Given the description of an element on the screen output the (x, y) to click on. 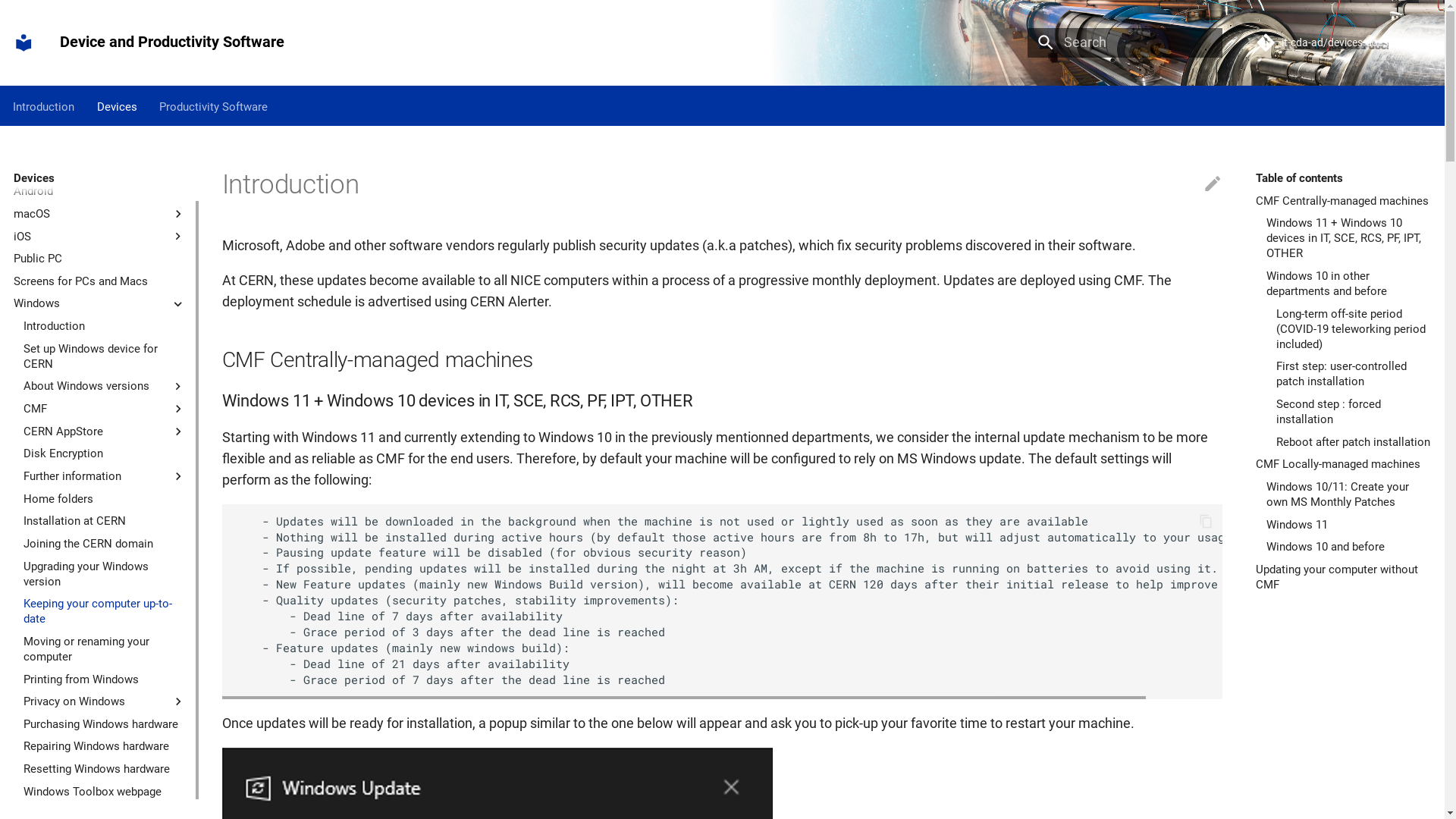
Windows Toolbox webpage Element type: text (104, 791)
it-cda-ad/devices-docs Element type: text (1342, 42)
Copy to clipboard Element type: hover (1205, 520)
Updating your computer without CMF Element type: text (1342, 576)
Android Element type: text (99, 190)
Moving or renaming your computer Element type: text (104, 648)
Set up Windows device for CERN Element type: text (104, 356)
Introduction Element type: text (99, 168)
Installation at CERN Element type: text (104, 520)
Upgrading your Windows version Element type: text (104, 573)
Printing from Windows Element type: text (104, 679)
Resetting Windows hardware Element type: text (104, 768)
Windows 11 Element type: text (1348, 524)
Joining the CERN domain Element type: text (104, 543)
Windows 10 and before Element type: text (1348, 546)
Public PC Element type: text (99, 258)
Screens for PCs and Macs Element type: text (99, 280)
Productivity Software Element type: text (213, 105)
Home folders Element type: text (104, 498)
Purchasing Windows hardware Element type: text (104, 723)
CMF Centrally-managed machines Element type: text (1342, 200)
Devices Element type: text (117, 105)
Device and Productivity Software Element type: hover (23, 42)
Disk Encryption Element type: text (104, 453)
Windows 10/11: Create your own MS Monthly Patches Element type: text (1348, 494)
Second step : forced installation Element type: text (1353, 411)
CMF Locally-managed machines Element type: text (1342, 463)
First step: user-controlled patch installation Element type: text (1353, 373)
Introduction Element type: text (104, 325)
Keeping your computer up-to-date Element type: text (104, 611)
Introduction Element type: text (44, 105)
Edit this page Element type: hover (1212, 183)
Repairing Windows hardware Element type: text (104, 745)
Windows 10 in other departments and before Element type: text (1348, 283)
Reboot after patch installation Element type: text (1353, 441)
